Given the description of an element on the screen output the (x, y) to click on. 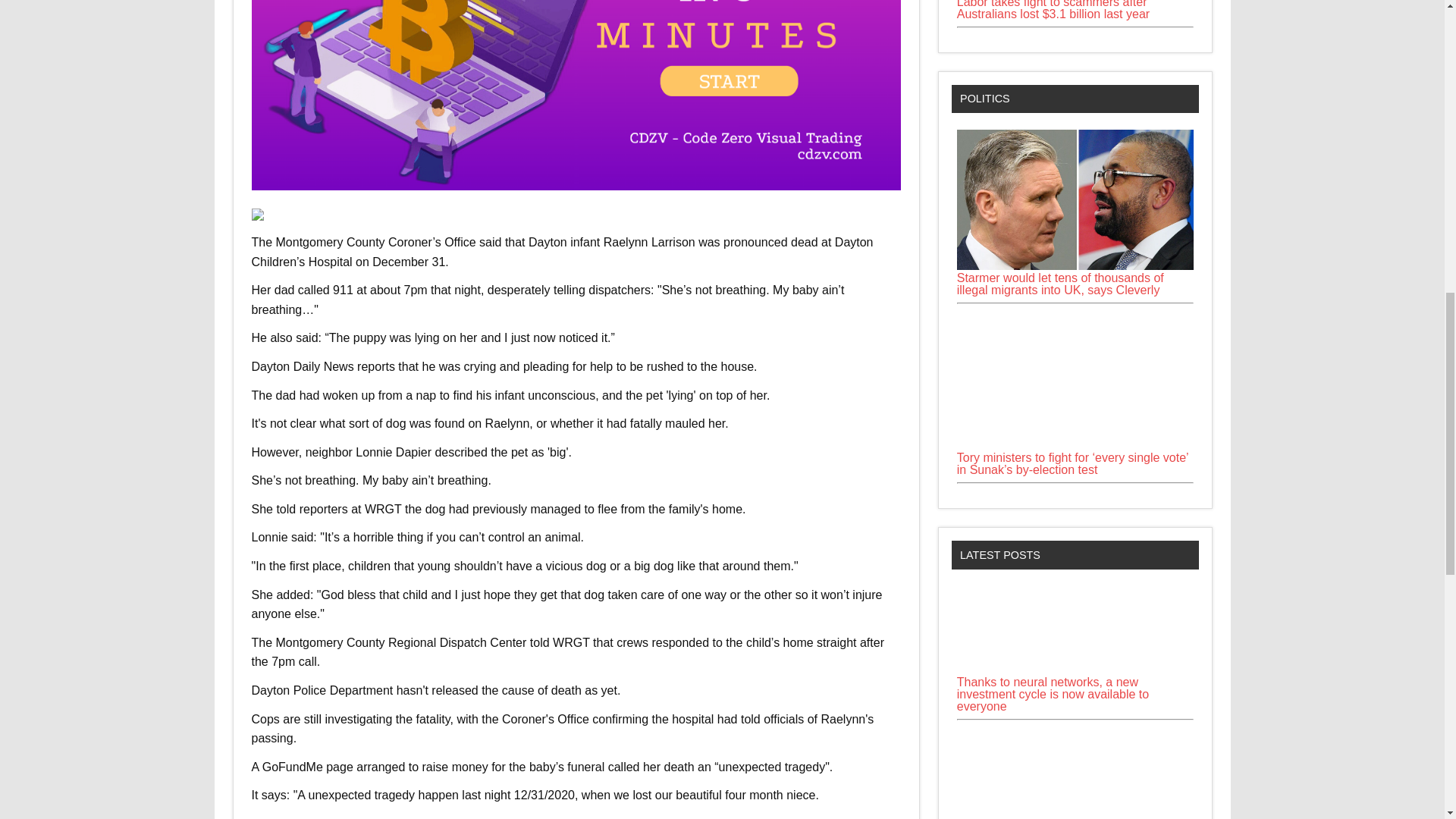
Prague university shooting leaves several dead, police say (1074, 772)
